Given the description of an element on the screen output the (x, y) to click on. 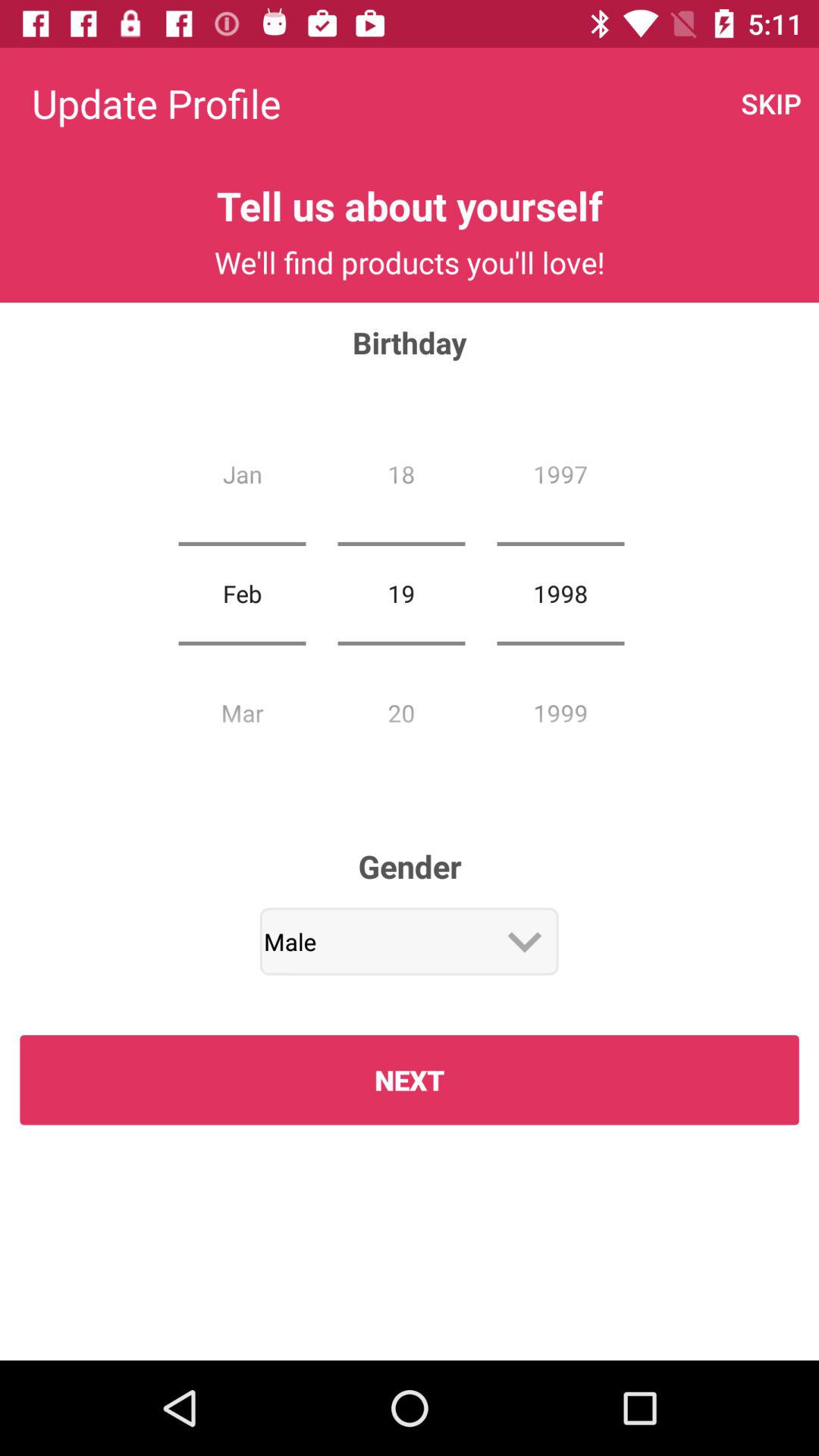
choose icon to the right of the 19 (560, 593)
